Given the description of an element on the screen output the (x, y) to click on. 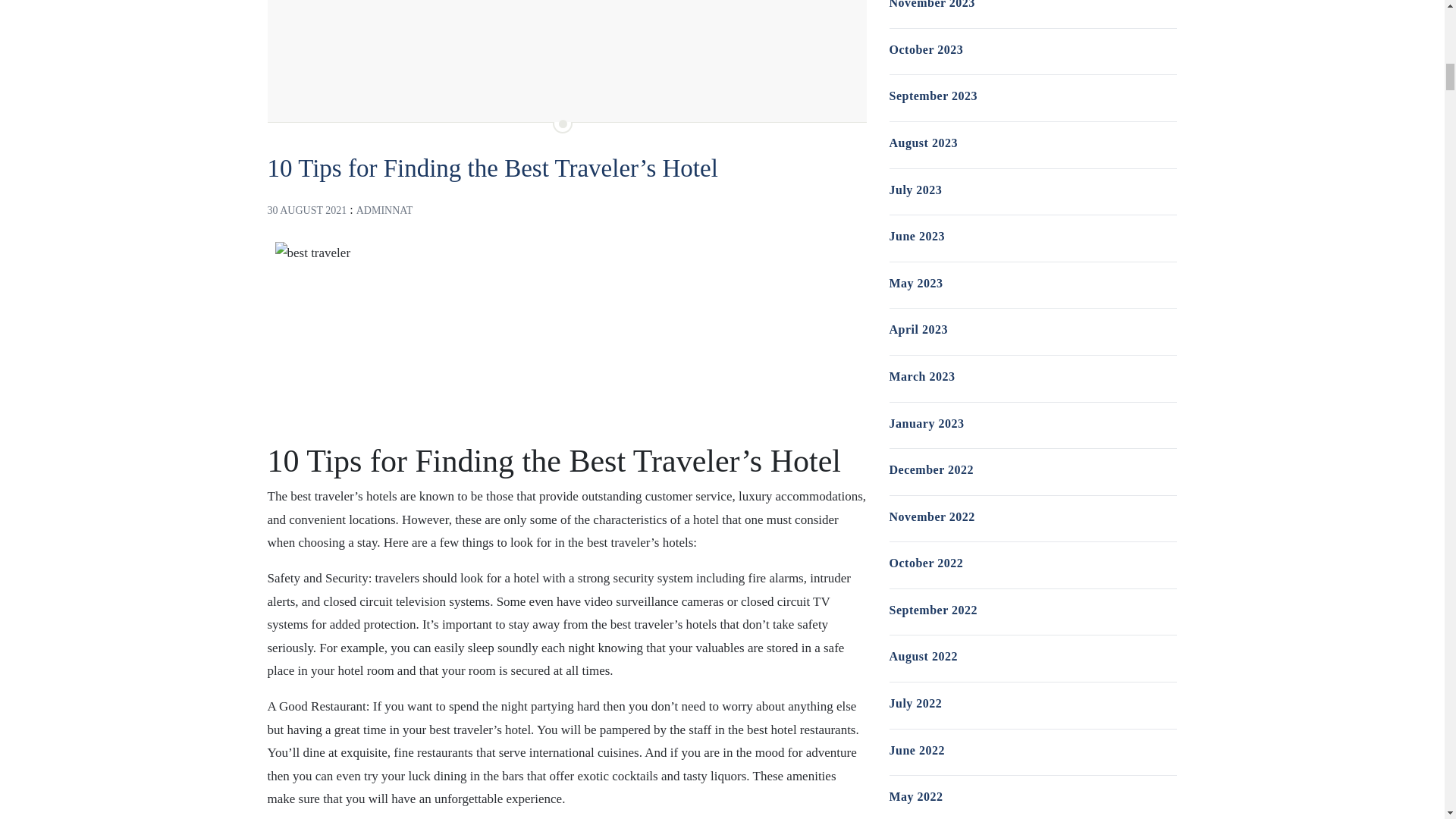
ADMINNAT (384, 210)
READ MORE (312, 81)
30 AUGUST 2021 (306, 210)
